Given the description of an element on the screen output the (x, y) to click on. 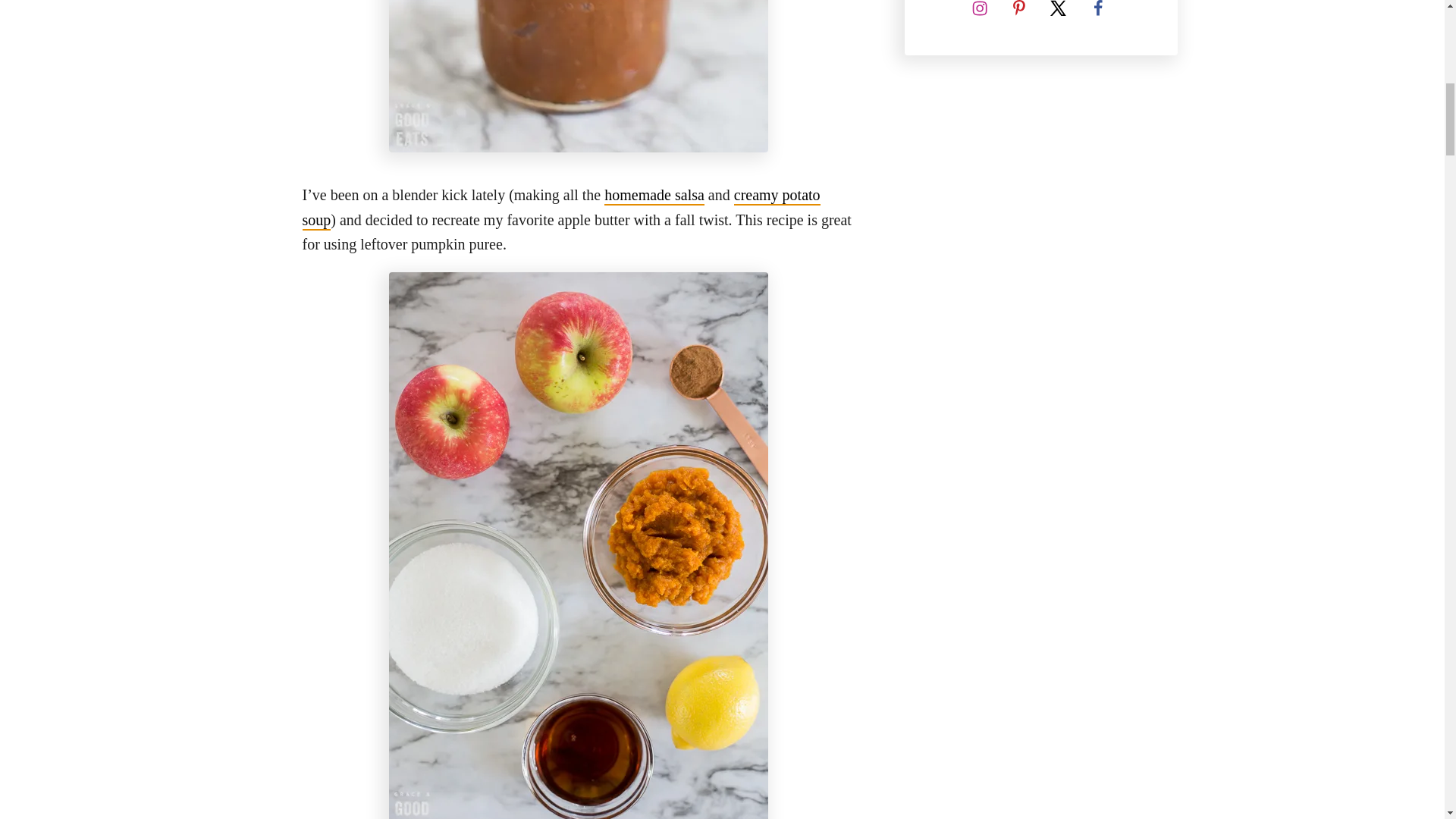
Follow on Instagram (977, 12)
Follow on X (1058, 12)
Follow on Facebook (1097, 12)
Follow on Pinterest (1018, 12)
homemade salsa (654, 195)
creamy potato soup (560, 208)
